Given the description of an element on the screen output the (x, y) to click on. 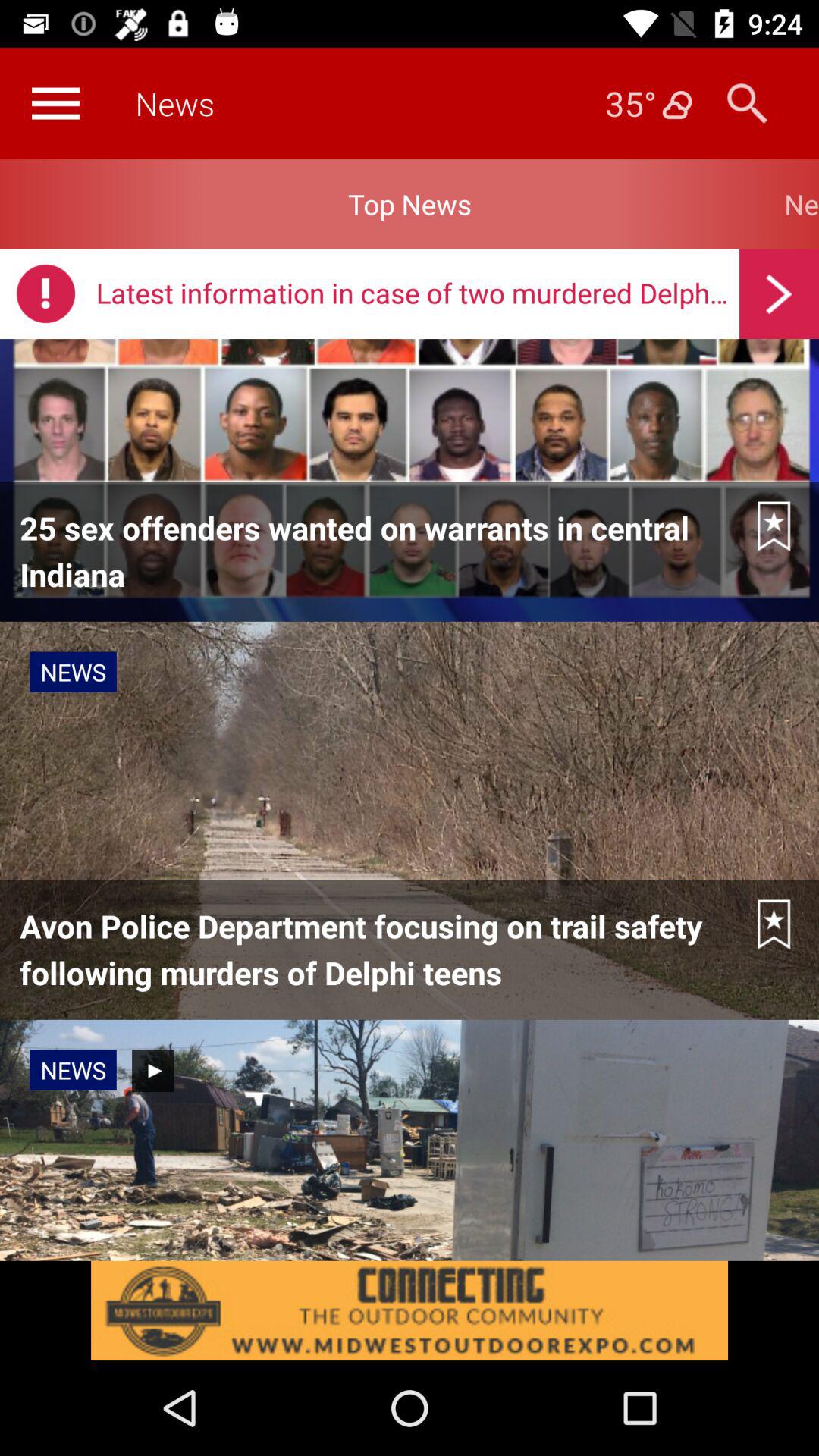
go to setting (55, 103)
